Given the description of an element on the screen output the (x, y) to click on. 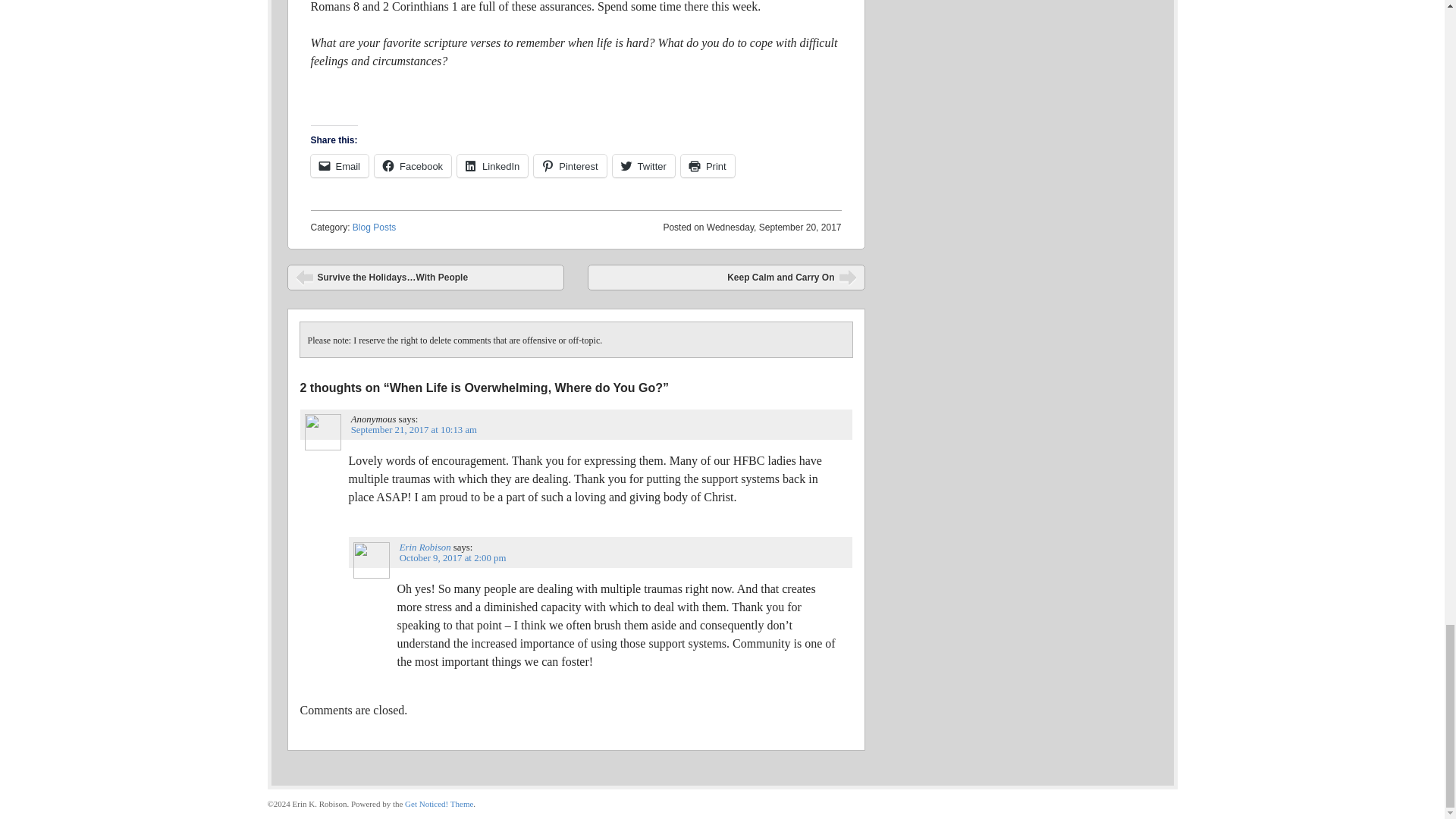
Keep Calm and Carry On (726, 277)
Click to print (708, 165)
LinkedIn (492, 165)
Click to share on LinkedIn (492, 165)
Pinterest (569, 165)
Get Noticed! Theme (438, 803)
Email (340, 165)
October 9, 2017 at 2:00 pm (452, 557)
September 21, 2017 at 10:13 am (413, 429)
Print (708, 165)
Facebook (412, 165)
Erin Robison (424, 547)
Twitter (643, 165)
Click to email a link to a friend (340, 165)
Blog Posts (374, 226)
